Given the description of an element on the screen output the (x, y) to click on. 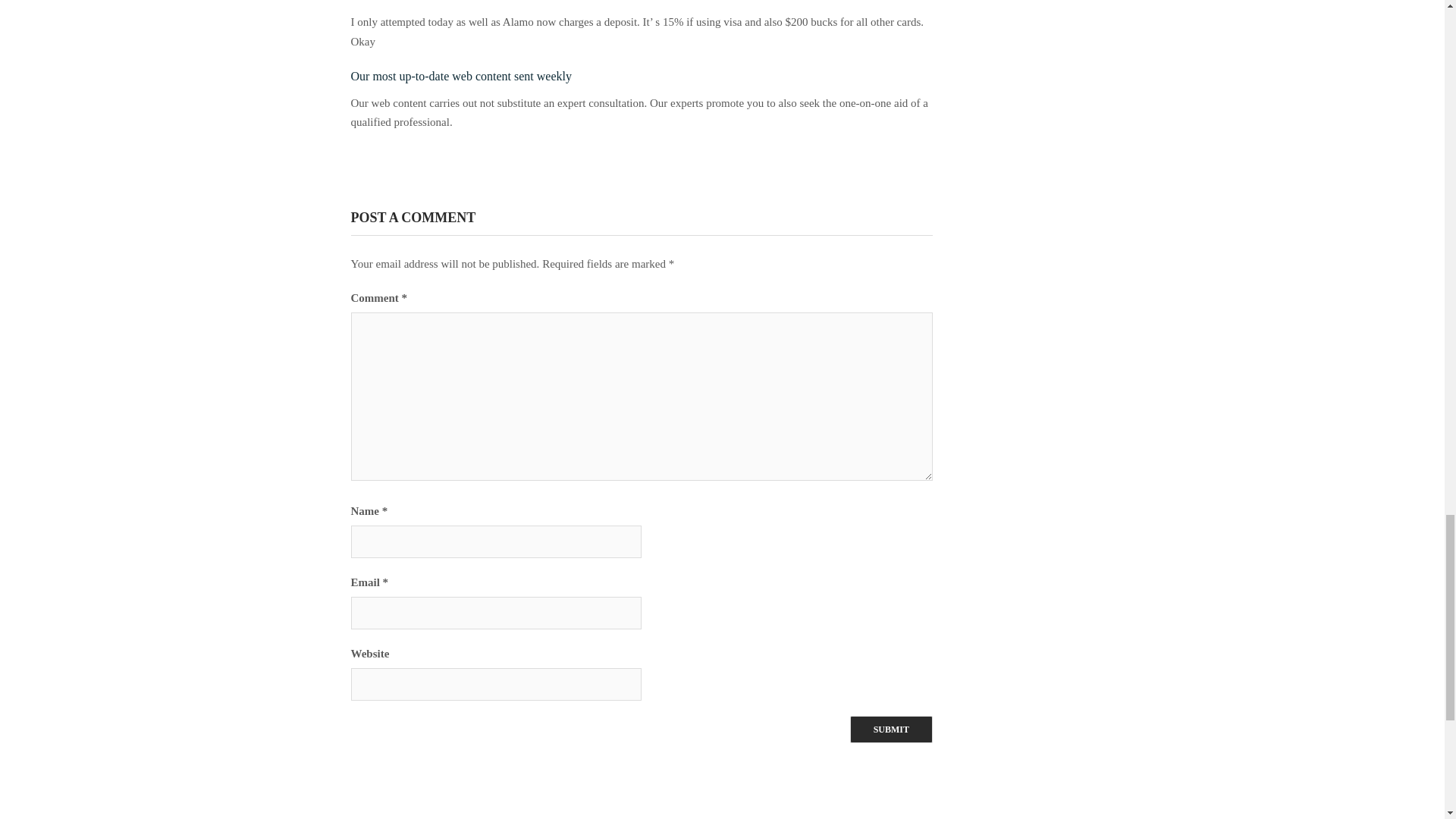
SUBMIT (891, 728)
SUBMIT (891, 728)
